Given the description of an element on the screen output the (x, y) to click on. 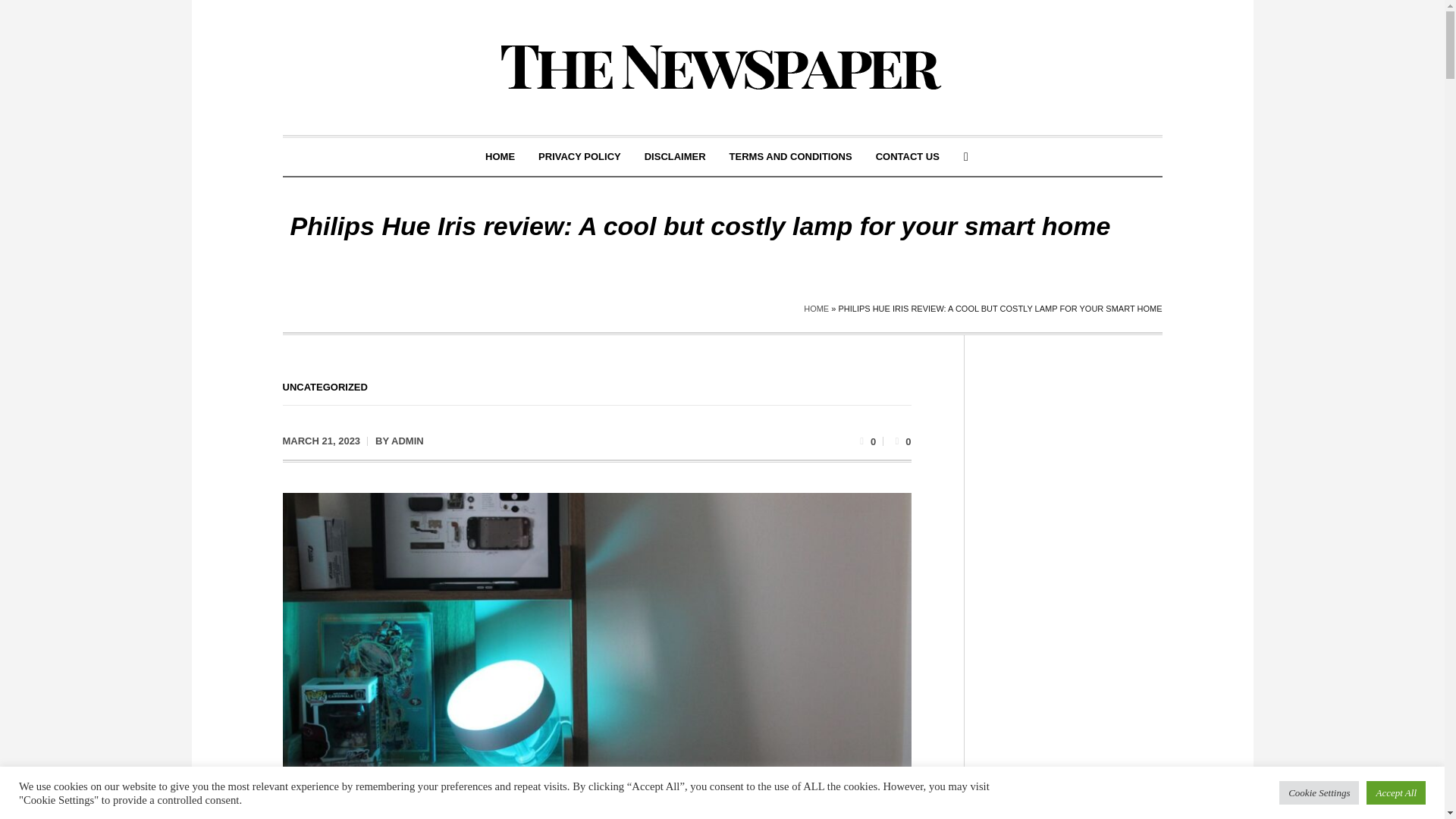
0 (866, 440)
HOME (815, 307)
TERMS AND CONDITIONS (790, 157)
0 (901, 440)
ADMIN (407, 440)
March 21, 2023 (320, 440)
Posts by admin (407, 440)
PRIVACY POLICY (579, 157)
